Given the description of an element on the screen output the (x, y) to click on. 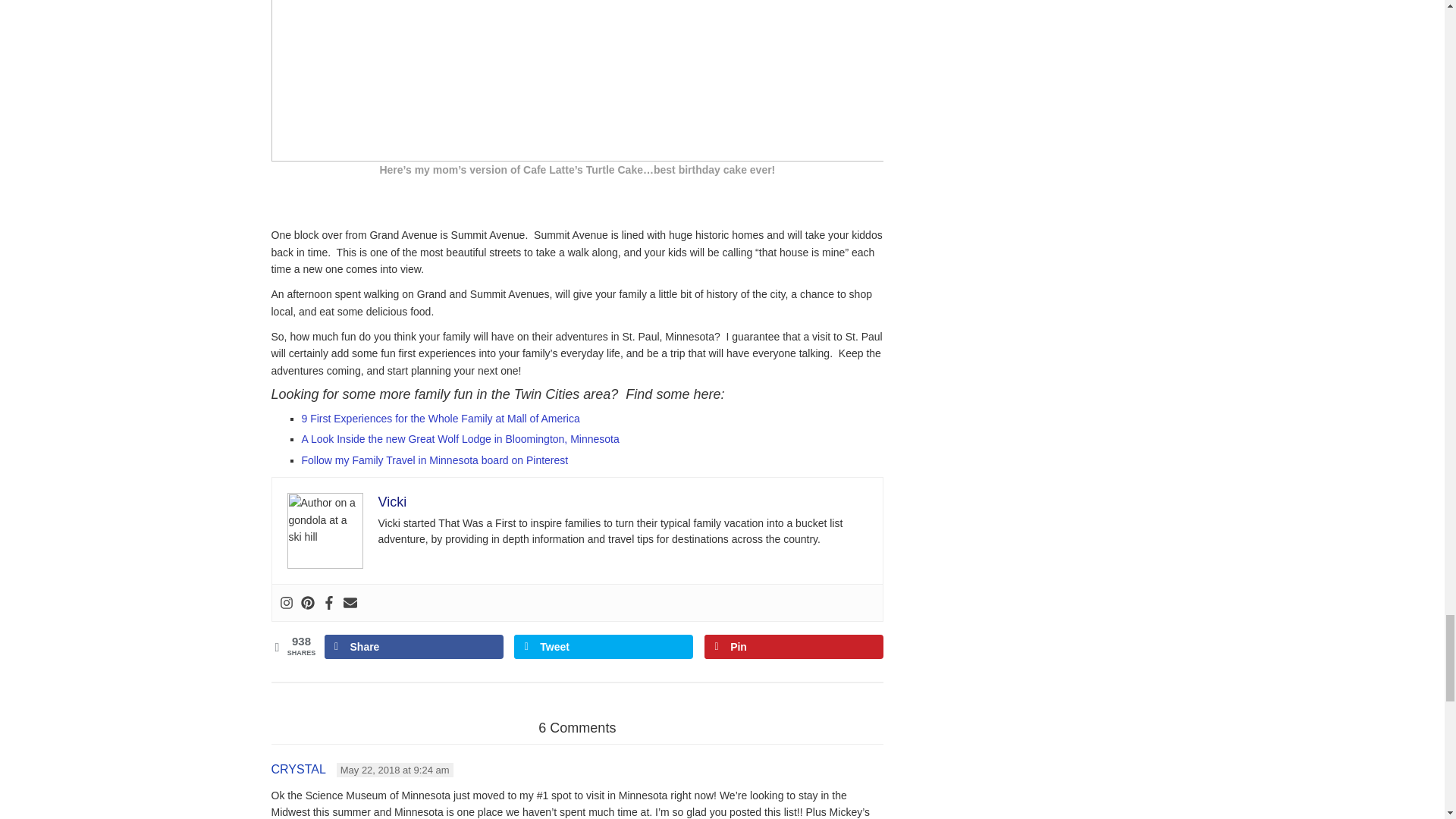
Pinterest (306, 602)
Follow my Family Travel in Minnesota board on Pinterest (435, 460)
Vicki (391, 501)
Instagram (285, 602)
User email (349, 602)
Facebook (327, 602)
9 First Experiences for the Whole Family at Mall of America (440, 418)
